Given the description of an element on the screen output the (x, y) to click on. 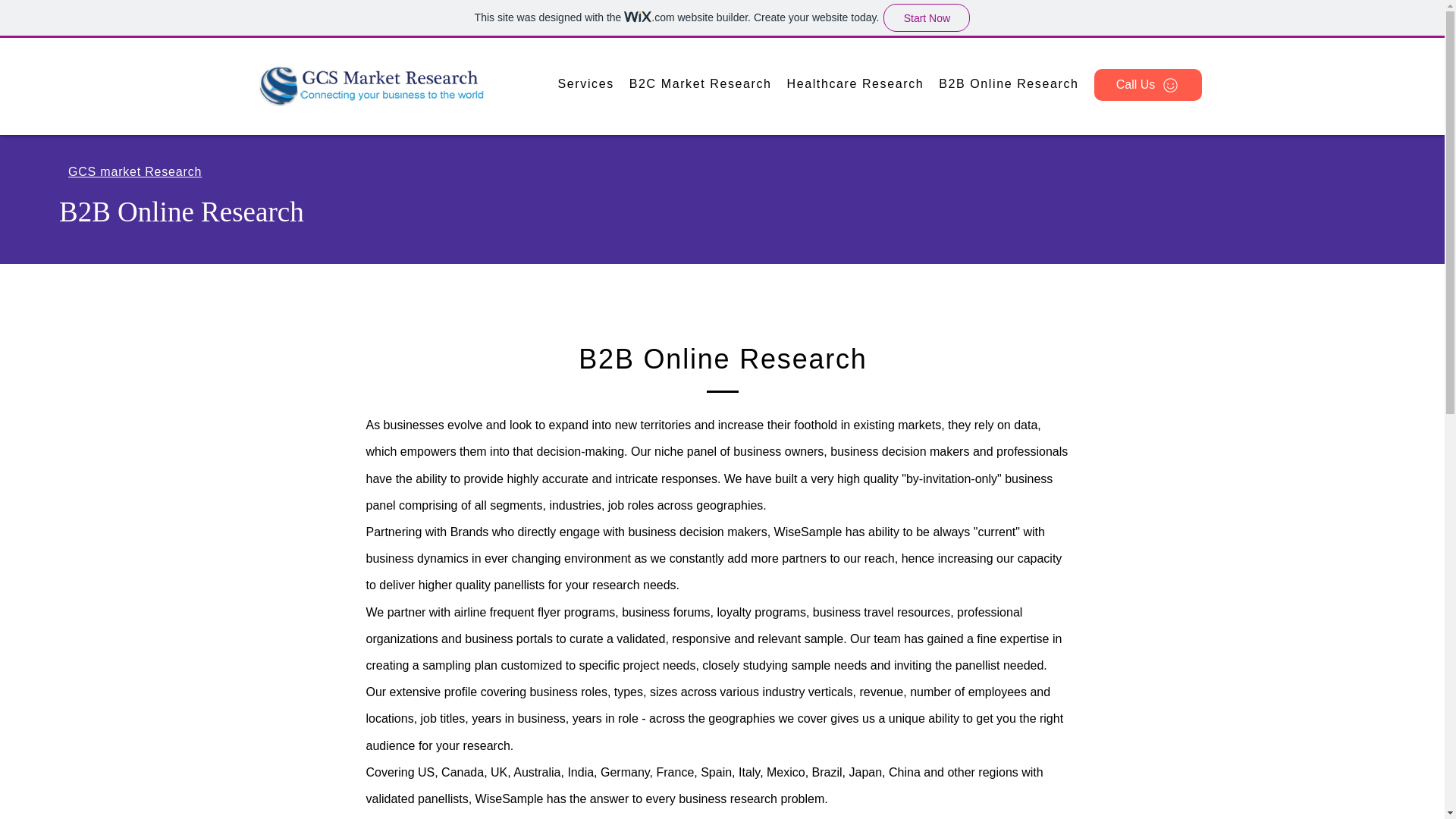
B2C Market Research (699, 84)
Healthcare Research (855, 84)
globlaservice.png (370, 85)
GCS market Research (135, 171)
Services (585, 84)
Call Us (1147, 84)
B2B Online Research (1008, 84)
